Given the description of an element on the screen output the (x, y) to click on. 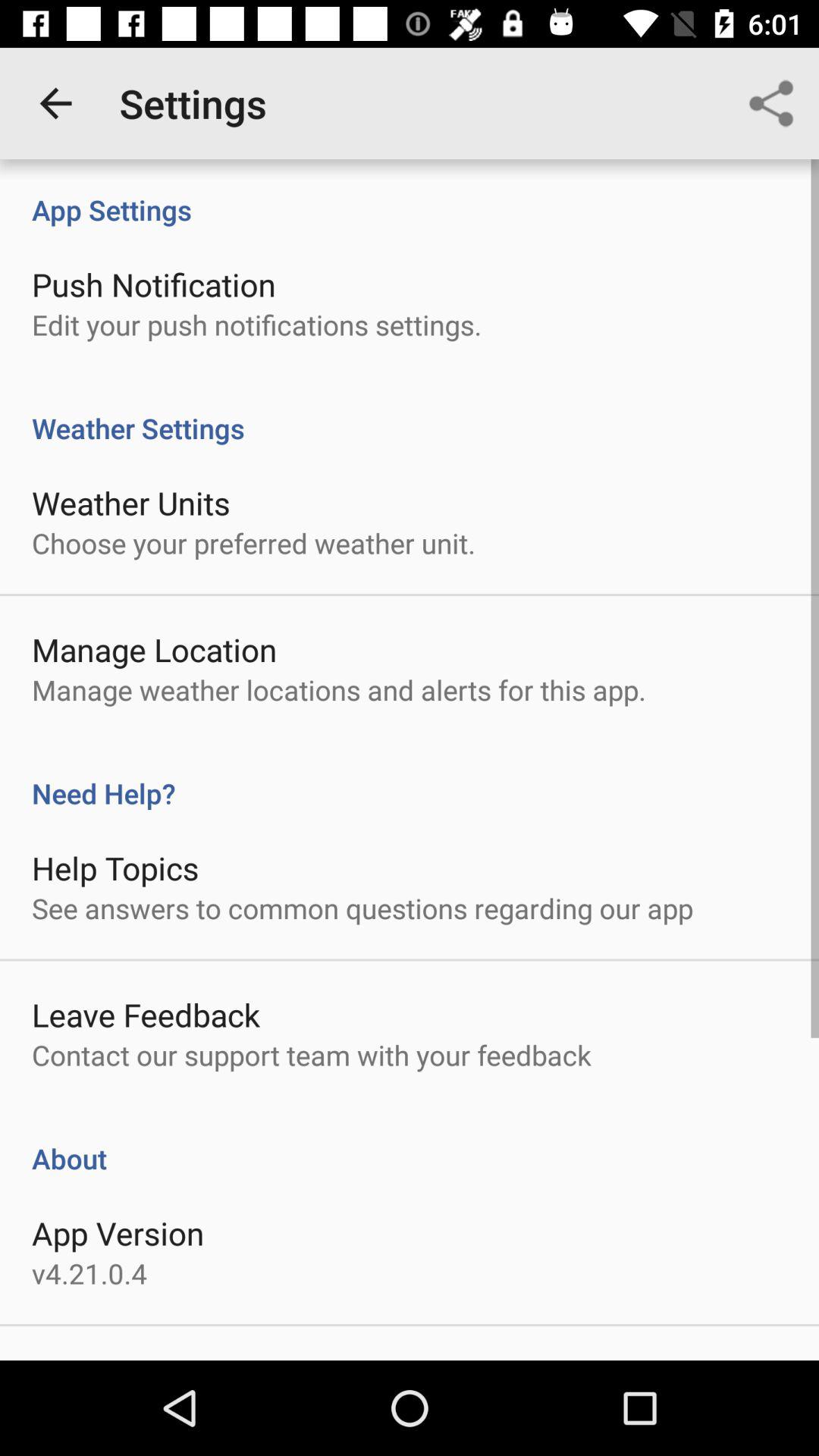
click icon next to the settings (55, 103)
